Given the description of an element on the screen output the (x, y) to click on. 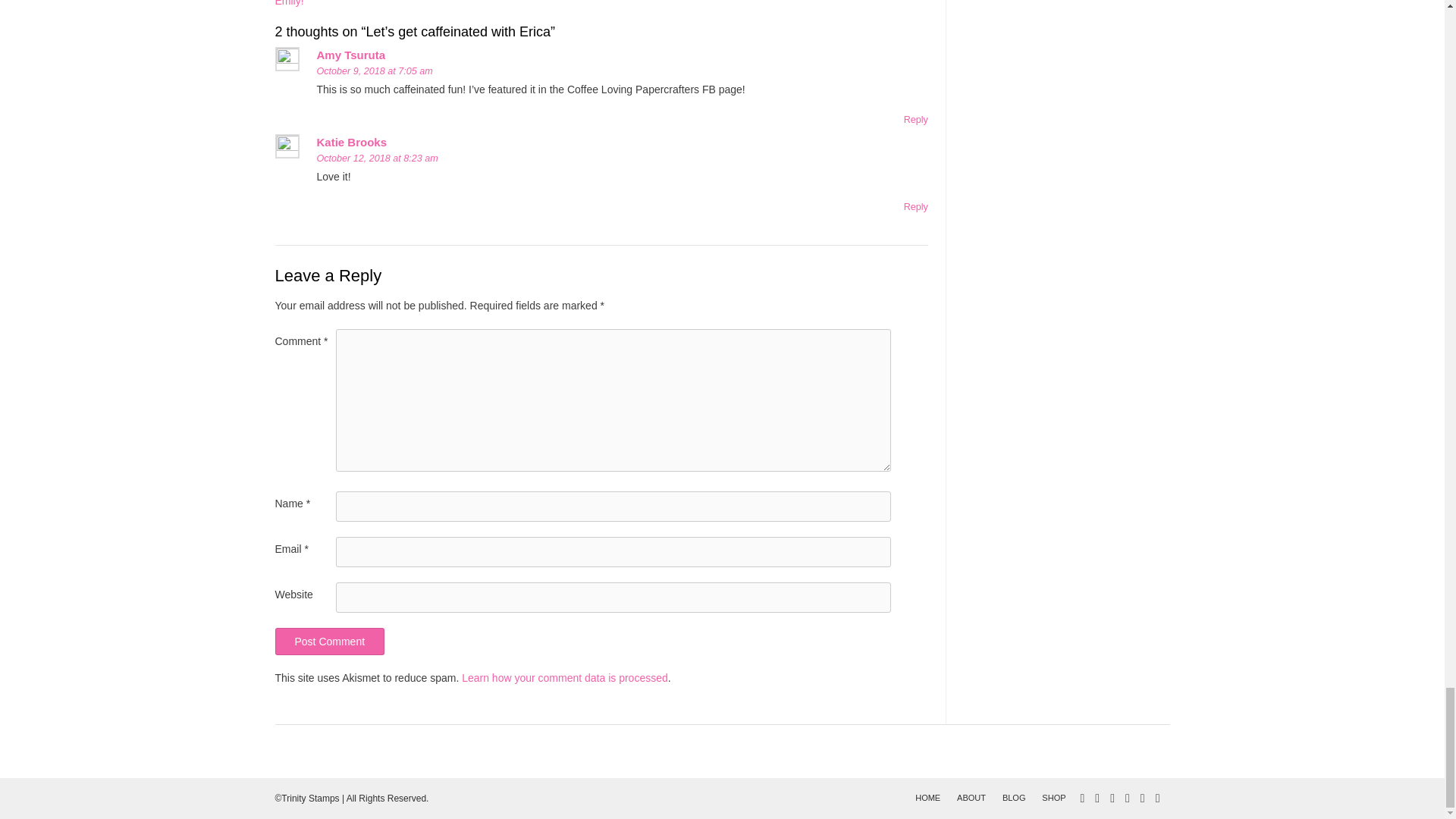
October 12, 2018 at 8:23 am (377, 158)
Reply (916, 206)
Reply (916, 119)
October 9, 2018 at 7:05 am (374, 71)
Post Comment (329, 641)
Amy Tsuruta (351, 54)
Katie Brooks (352, 141)
